Given the description of an element on the screen output the (x, y) to click on. 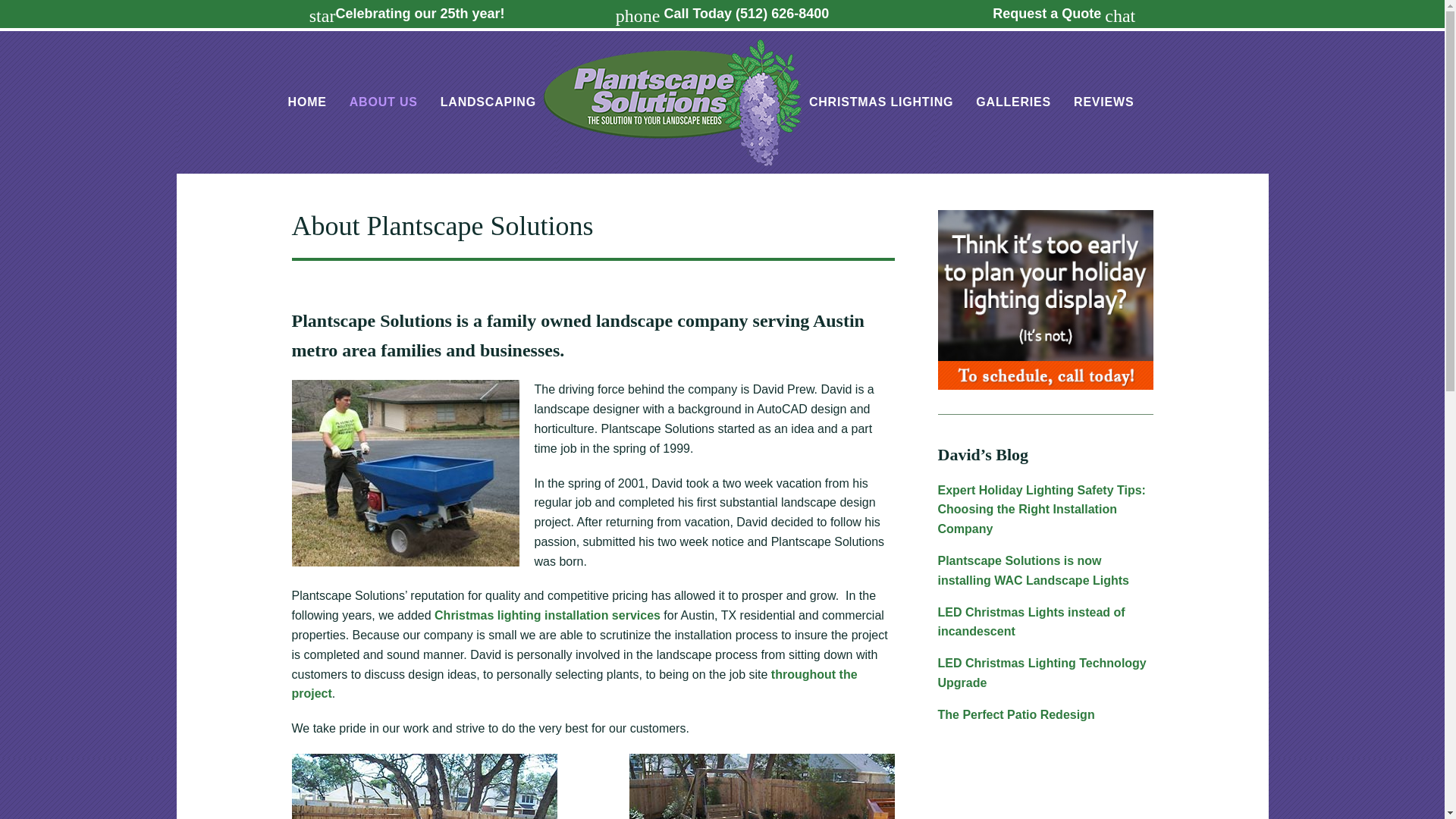
GALLERIES (1013, 102)
ABOUT US (383, 102)
Request a Quote chat (1063, 13)
HOME (307, 102)
LANDSCAPING (488, 102)
CHRISTMAS LIGHTING (881, 102)
